Given the description of an element on the screen output the (x, y) to click on. 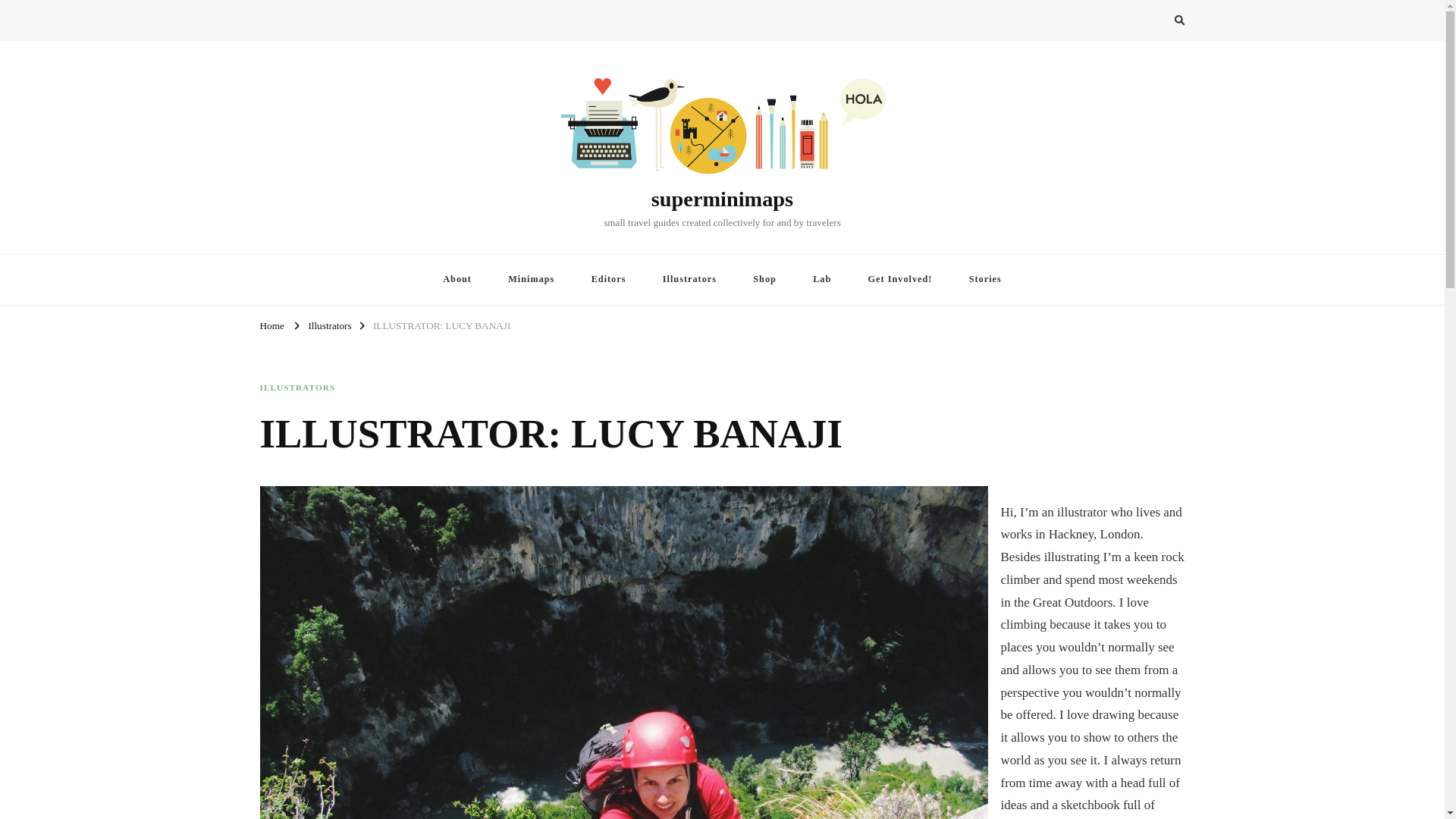
Editors (609, 278)
Shop (764, 278)
Home (271, 324)
About (456, 278)
Lab (821, 278)
Illustrators (328, 324)
Search (1151, 22)
Stories (984, 278)
Get Involved! (900, 278)
Minimaps (531, 278)
superminimaps (721, 198)
ILLUSTRATOR: LUCY BANAJI (441, 324)
Illustrators (689, 278)
ILLUSTRATORS (296, 387)
